Given the description of an element on the screen output the (x, y) to click on. 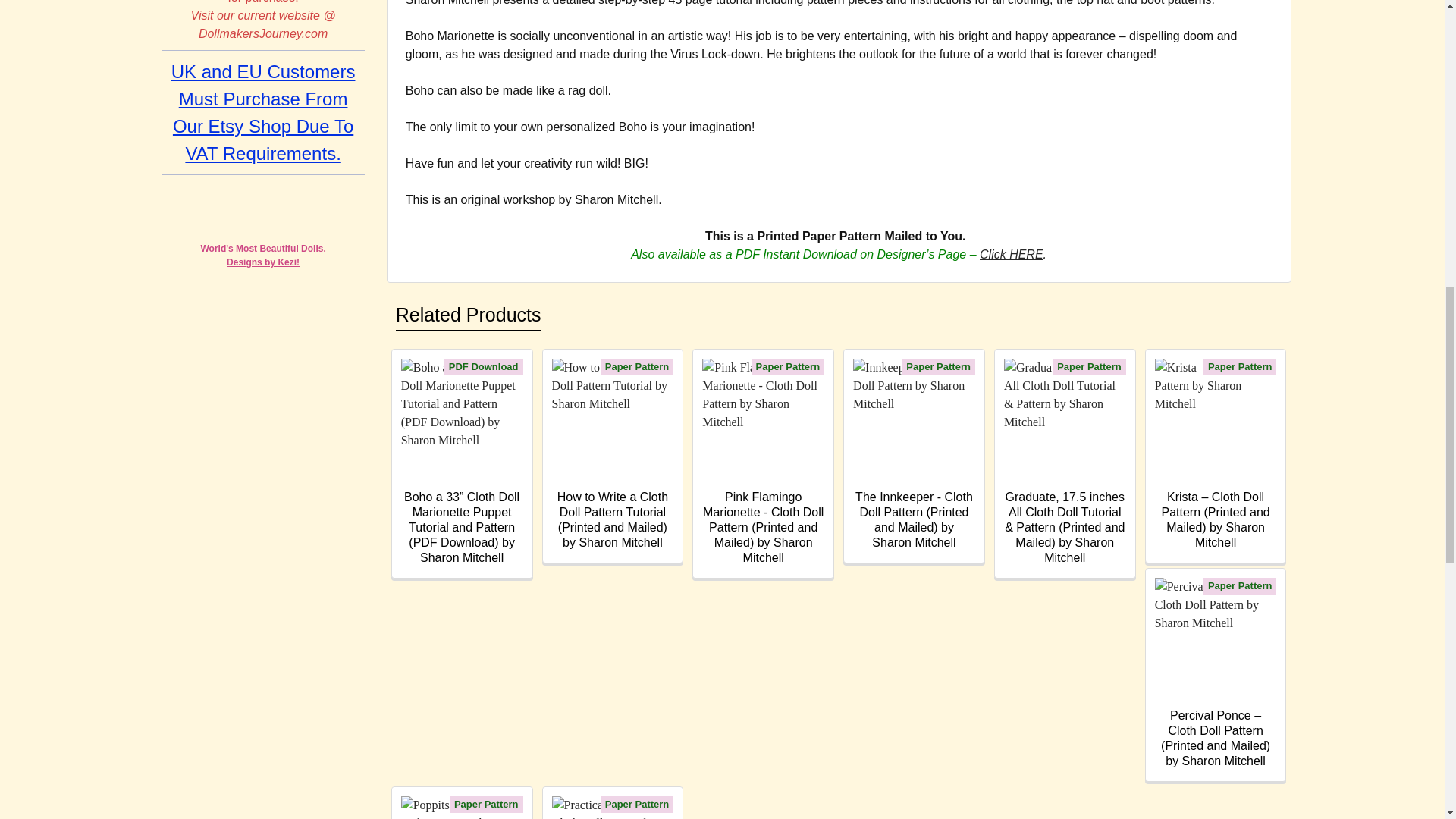
Innkeeper - Cloth Doll Pattern by Sharon Mitchell (914, 419)
